Given the description of an element on the screen output the (x, y) to click on. 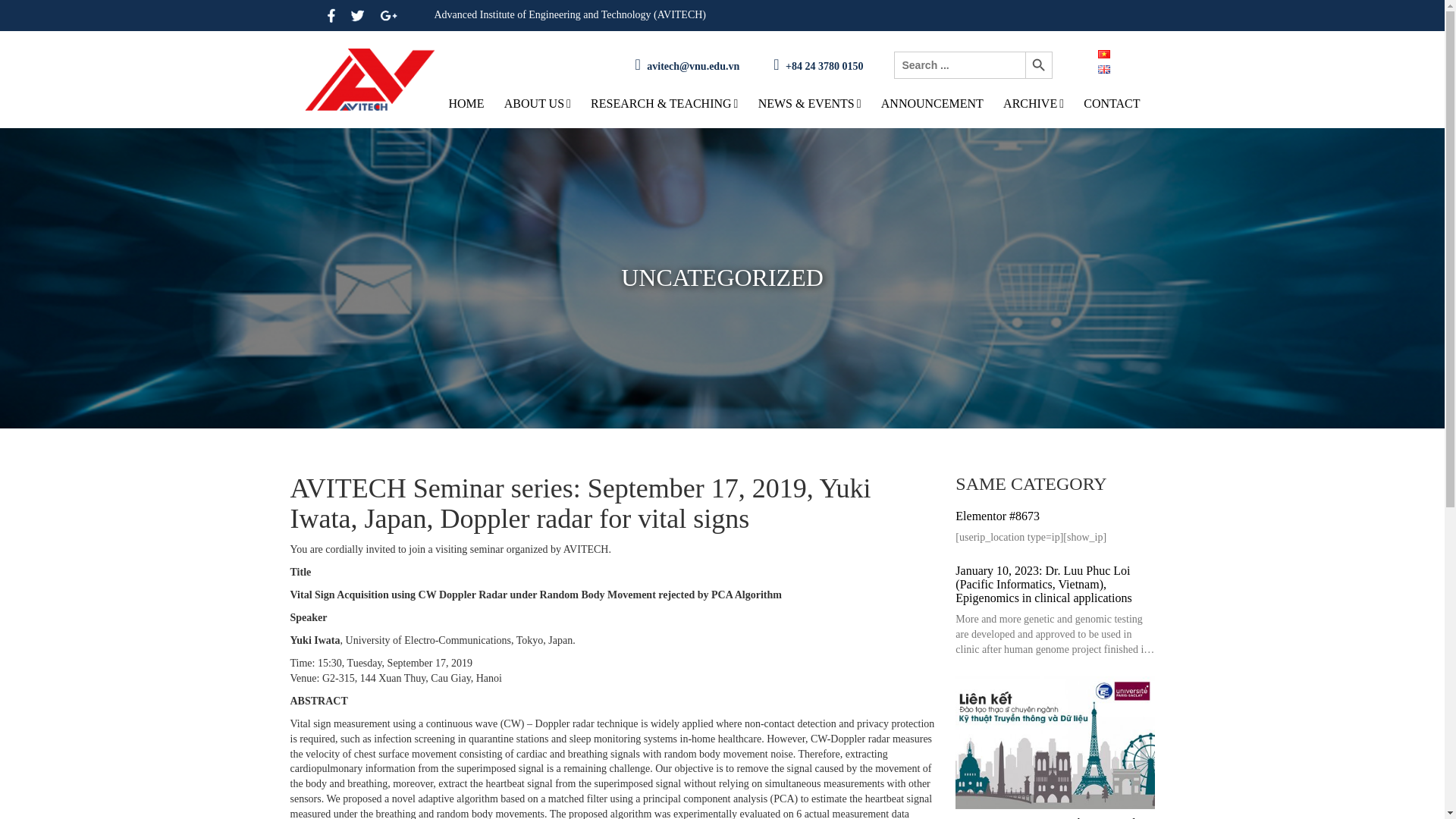
ANNOUNCEMENT (932, 103)
ARCHIVE (1033, 103)
ABOUT US (536, 103)
HOME (466, 103)
CONTACT (1111, 103)
